Given the description of an element on the screen output the (x, y) to click on. 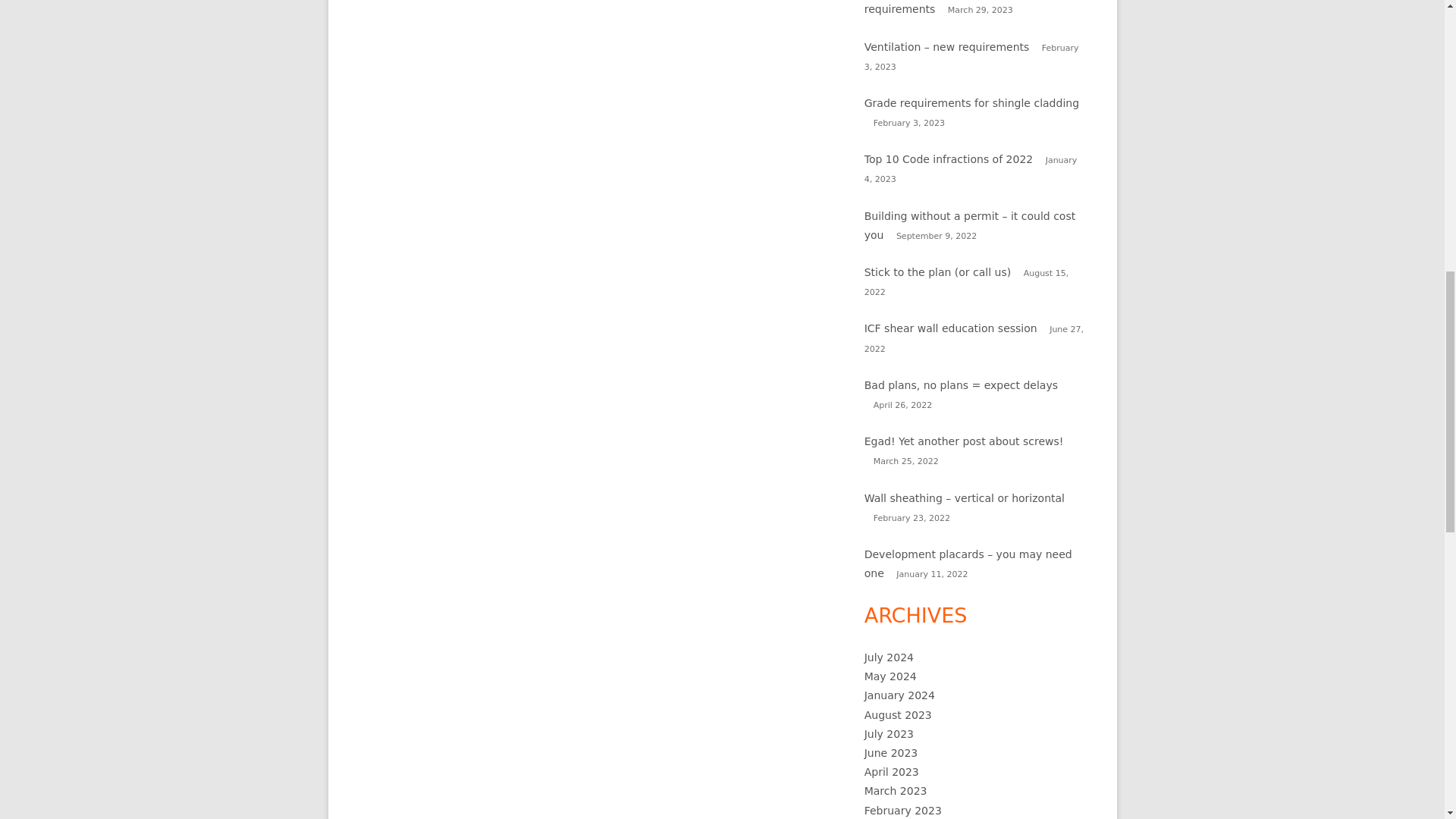
ICF shear wall education session (950, 328)
July 2024 (889, 657)
May 2024 (890, 676)
Egad! Yet another post about screws! (964, 440)
Grade requirements for shingle cladding (971, 102)
Grand Manan: check for quake requirements (945, 7)
January 2024 (899, 695)
August 2023 (897, 715)
Top 10 Code infractions of 2022 (948, 159)
